Given the description of an element on the screen output the (x, y) to click on. 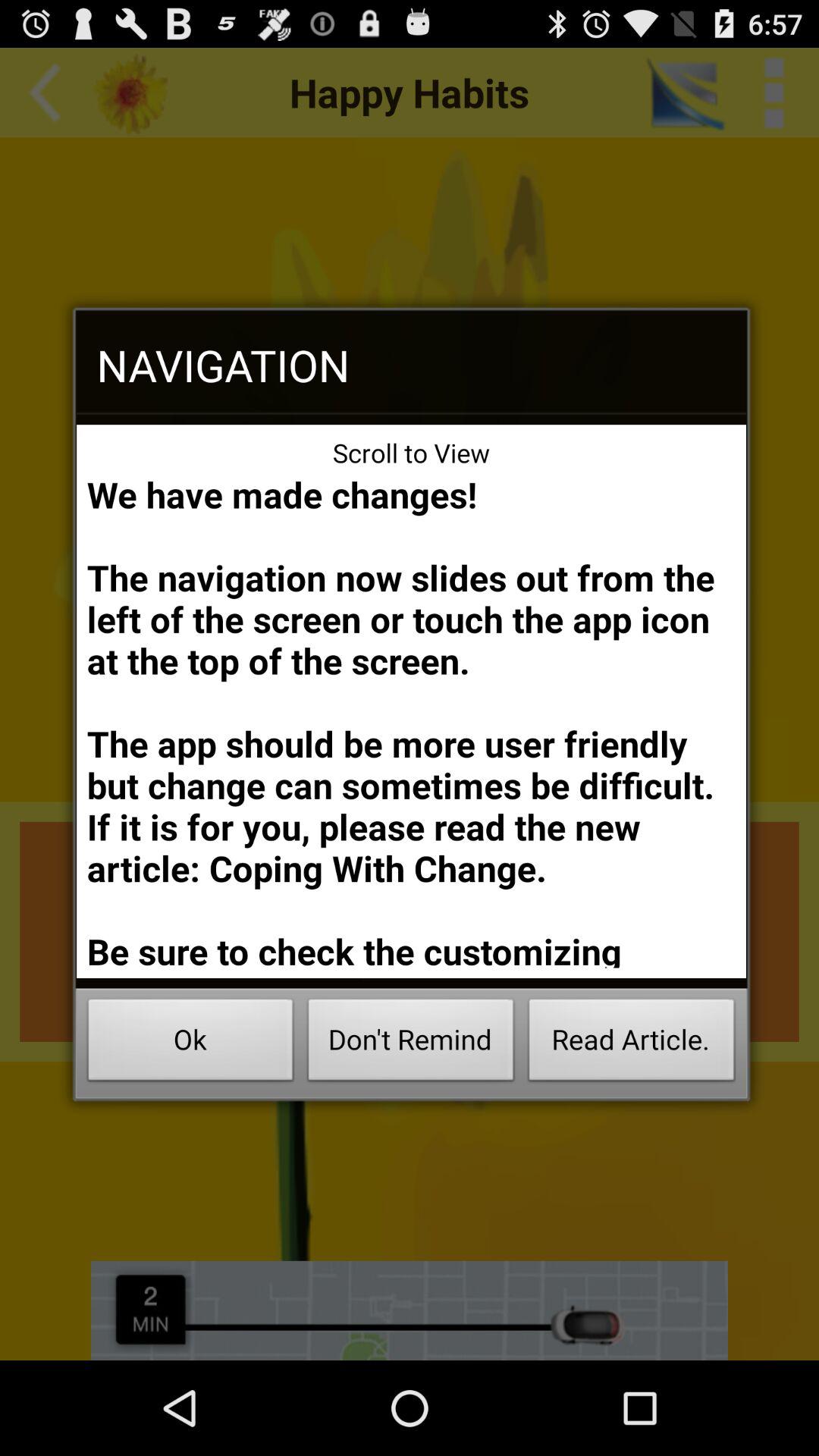
open the read article. button (631, 1044)
